Given the description of an element on the screen output the (x, y) to click on. 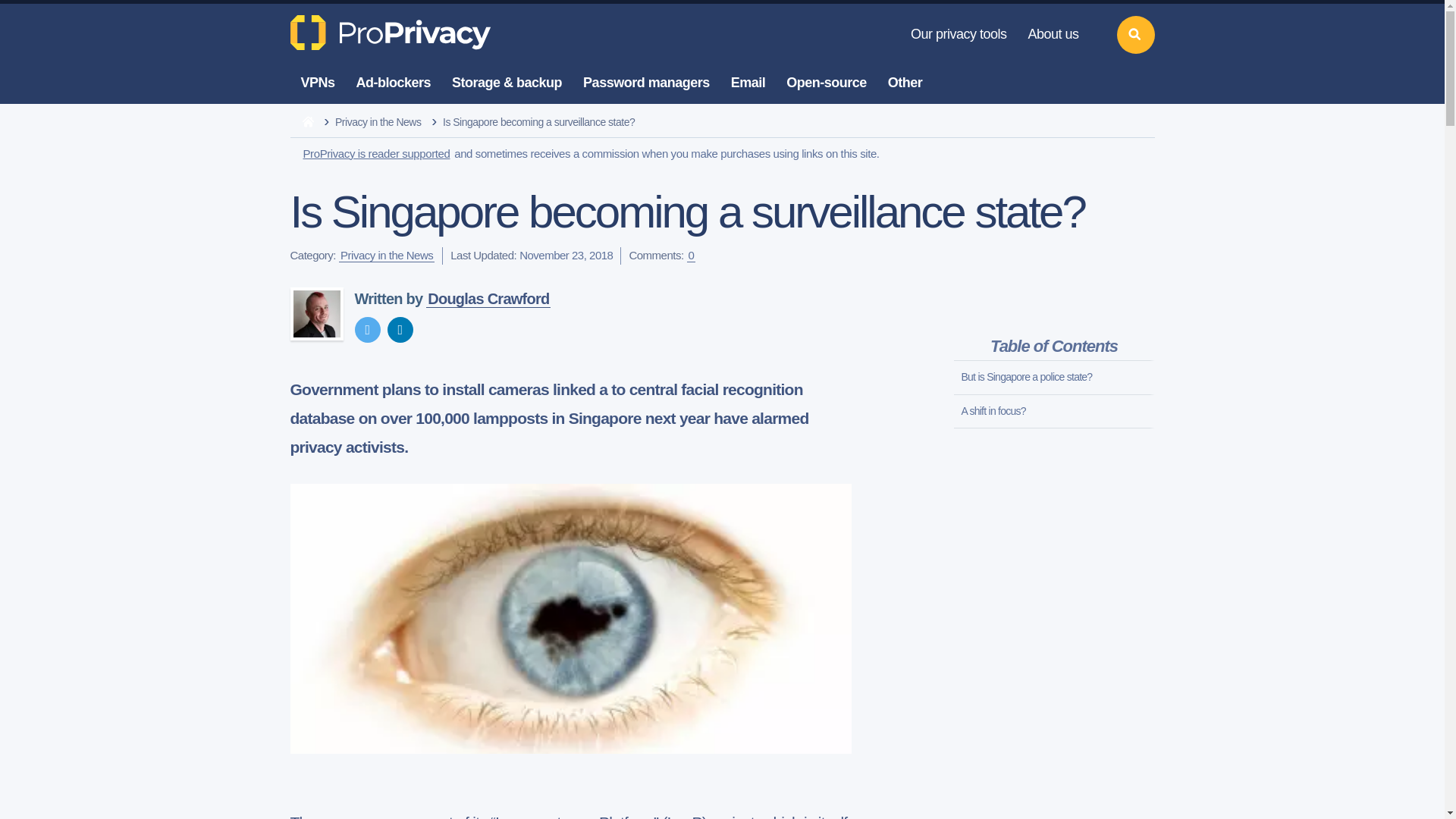
About us (1052, 34)
Search (1135, 34)
VPNs (317, 82)
Douglas Crawford (315, 313)
Ad-blockers (394, 82)
Our privacy tools (958, 34)
Welcome to ProPrivacy! (392, 32)
